Given the description of an element on the screen output the (x, y) to click on. 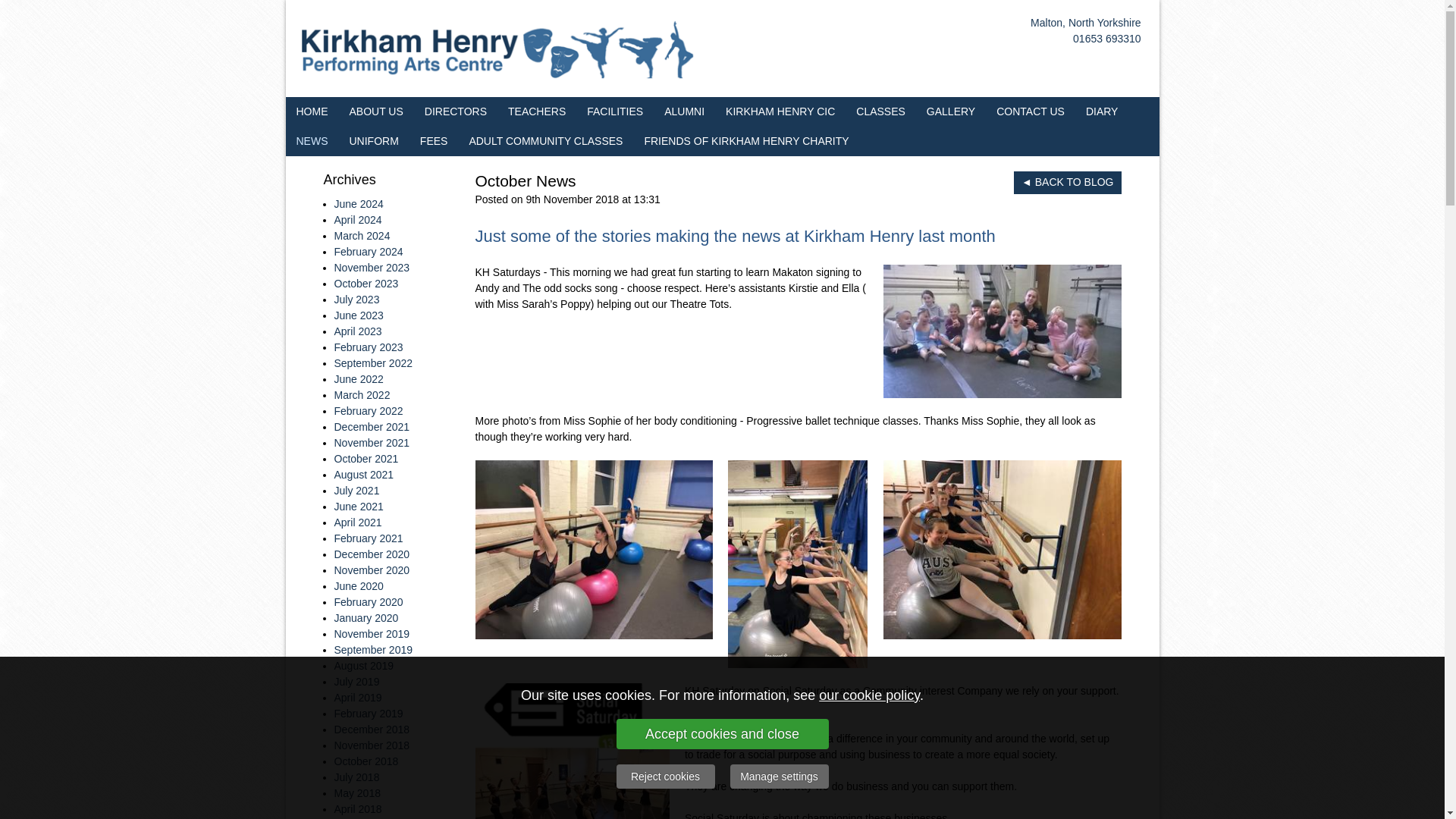
01653 693310 (1107, 38)
KIRKHAM HENRY CIC (779, 111)
April 2024 (357, 219)
February 2024 (368, 251)
June 2024 (357, 203)
HOME (311, 111)
FRIENDS OF KIRKHAM HENRY CHARITY (746, 141)
BACK TO BLOG (1067, 182)
TEACHERS (536, 111)
CLASSES (880, 111)
